Given the description of an element on the screen output the (x, y) to click on. 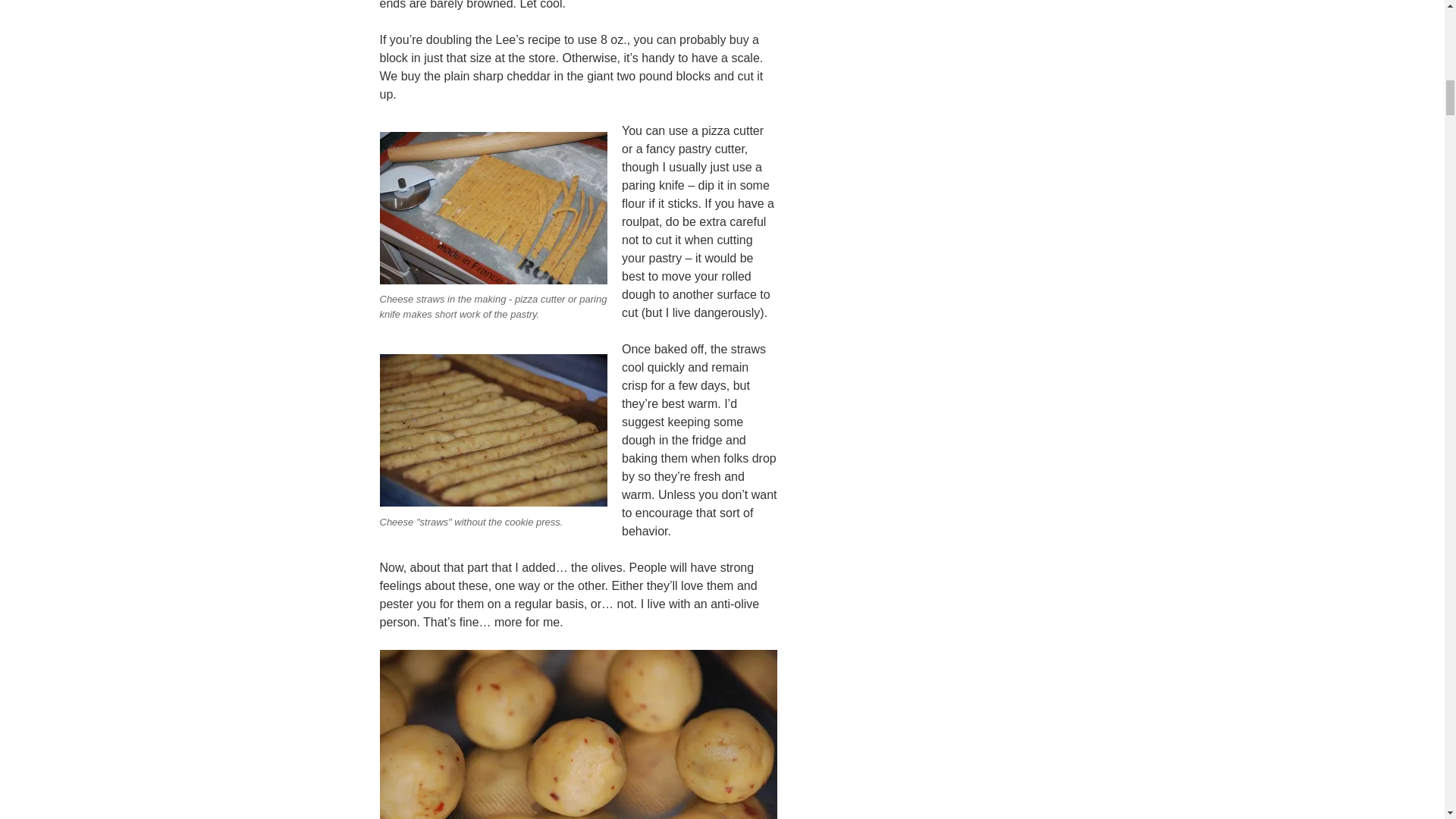
Cheese straws in the making (492, 207)
Cheese "straws" (492, 429)
Cheesey olives (577, 734)
